Given the description of an element on the screen output the (x, y) to click on. 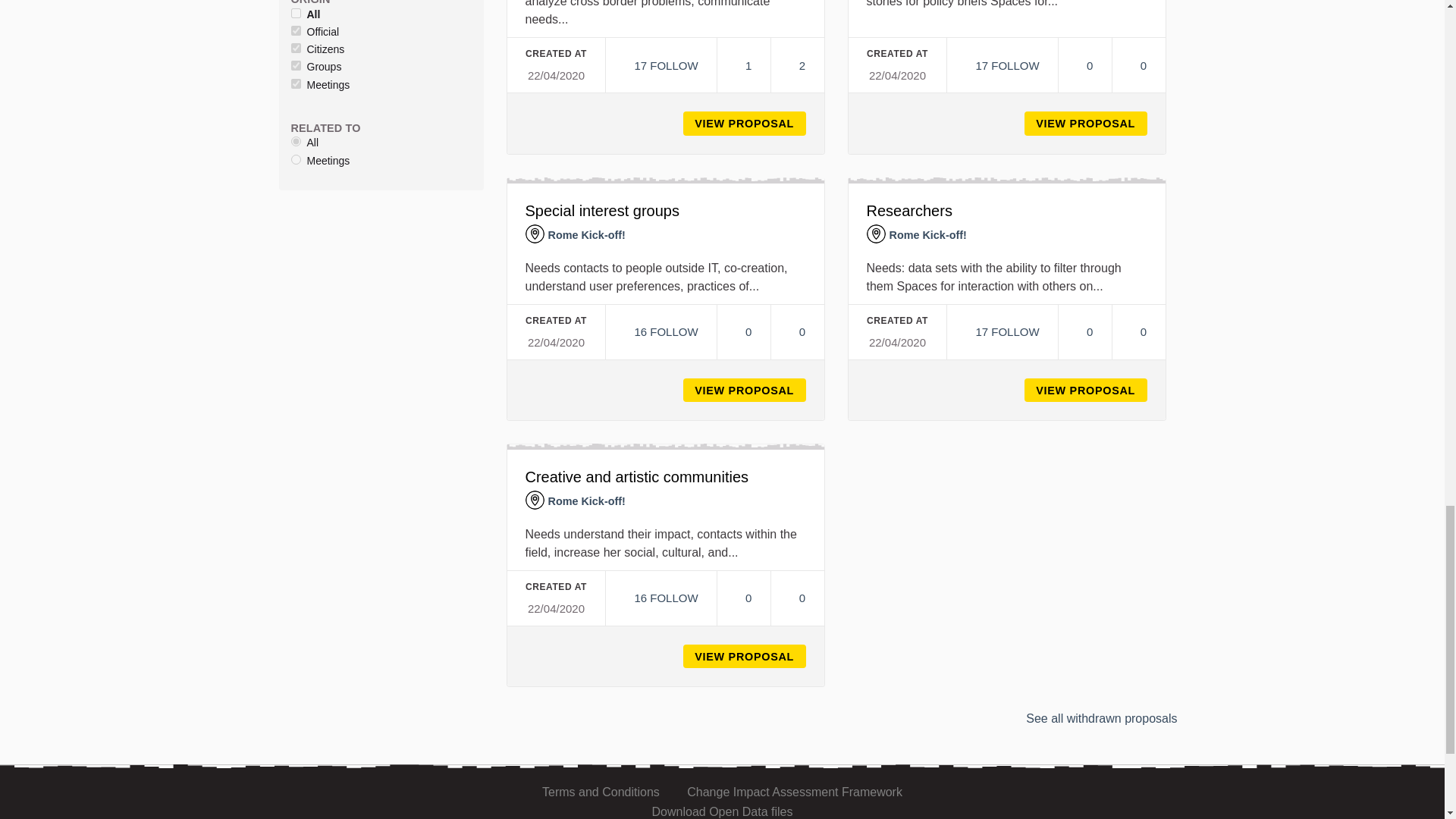
official (296, 30)
Comments count (797, 65)
Endorsements count (743, 65)
Please sign in before performing this action (661, 65)
citizens (296, 48)
Endorsements (743, 65)
meeting (296, 83)
